Given the description of an element on the screen output the (x, y) to click on. 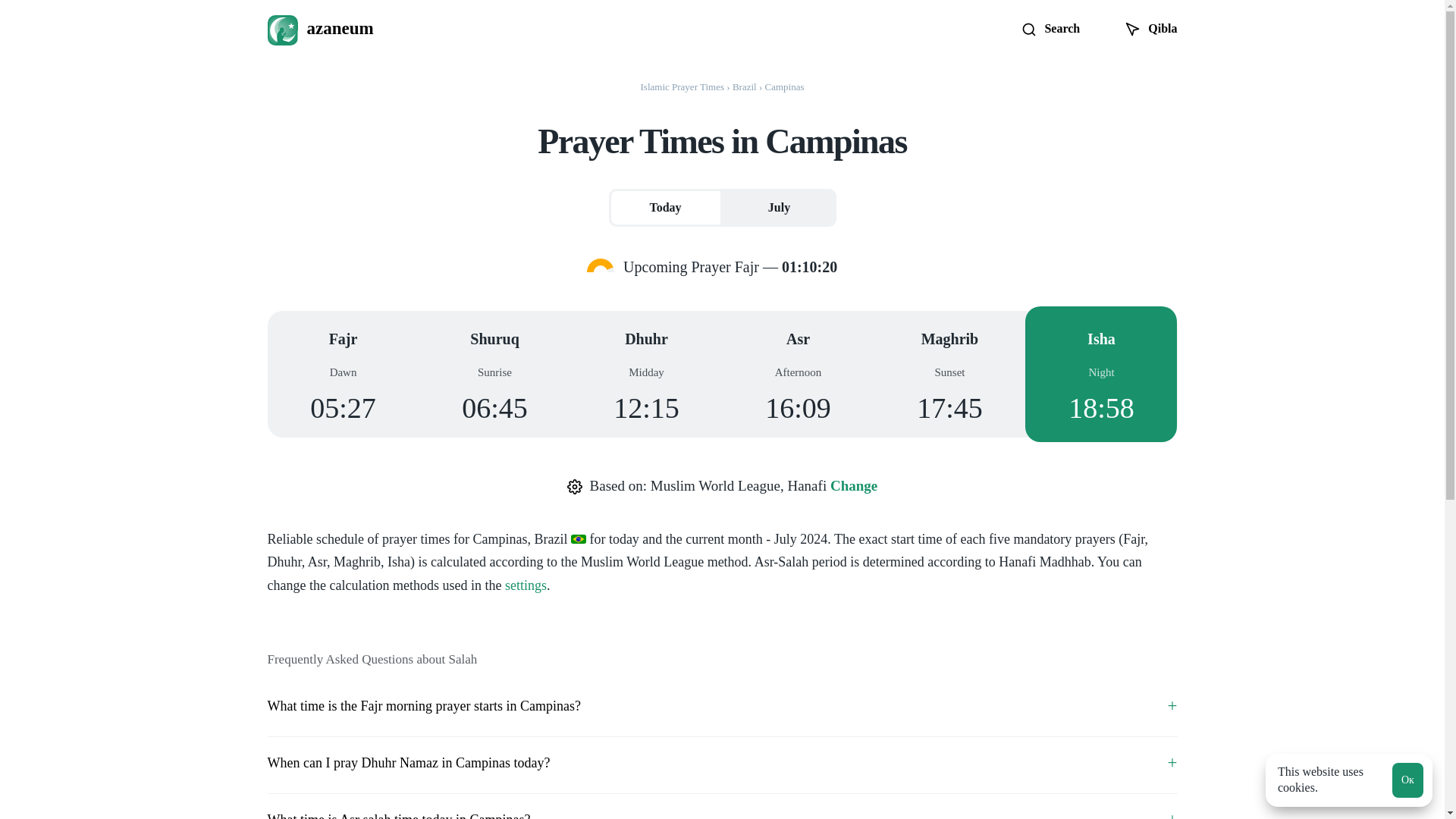
Prayer Times in July (778, 207)
Today Prayer Time (665, 207)
